Given the description of an element on the screen output the (x, y) to click on. 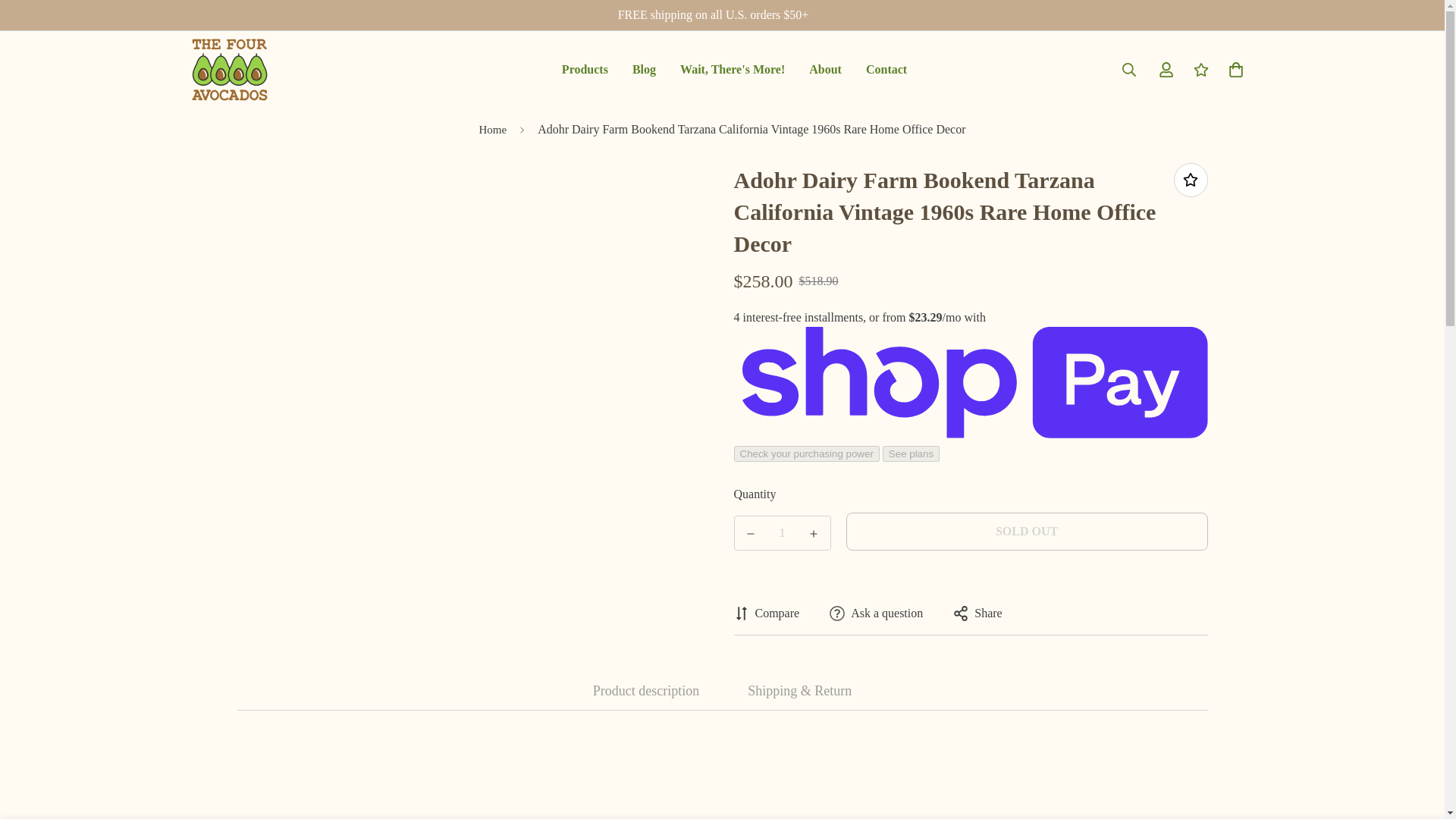
Back to the home page (491, 129)
Home (491, 129)
Products (585, 69)
1 (734, 69)
Contact (782, 532)
The Four Avocados (885, 69)
Wait, There's More! (735, 69)
About (228, 69)
Blog (732, 69)
